Given the description of an element on the screen output the (x, y) to click on. 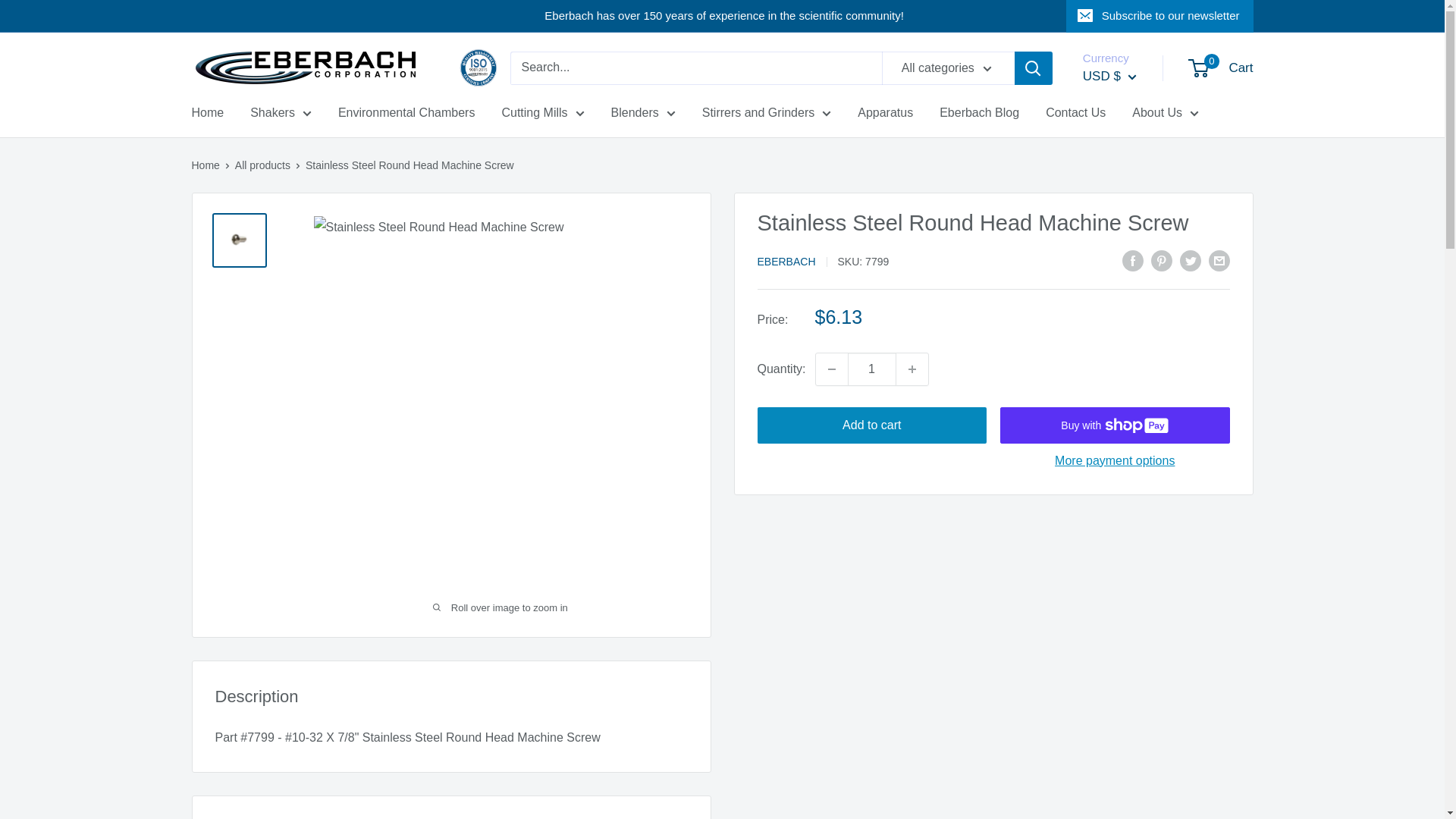
Subscribe to our newsletter (1159, 15)
1 (871, 368)
Decrease quantity by 1 (831, 368)
Increase quantity by 1 (912, 368)
